Given the description of an element on the screen output the (x, y) to click on. 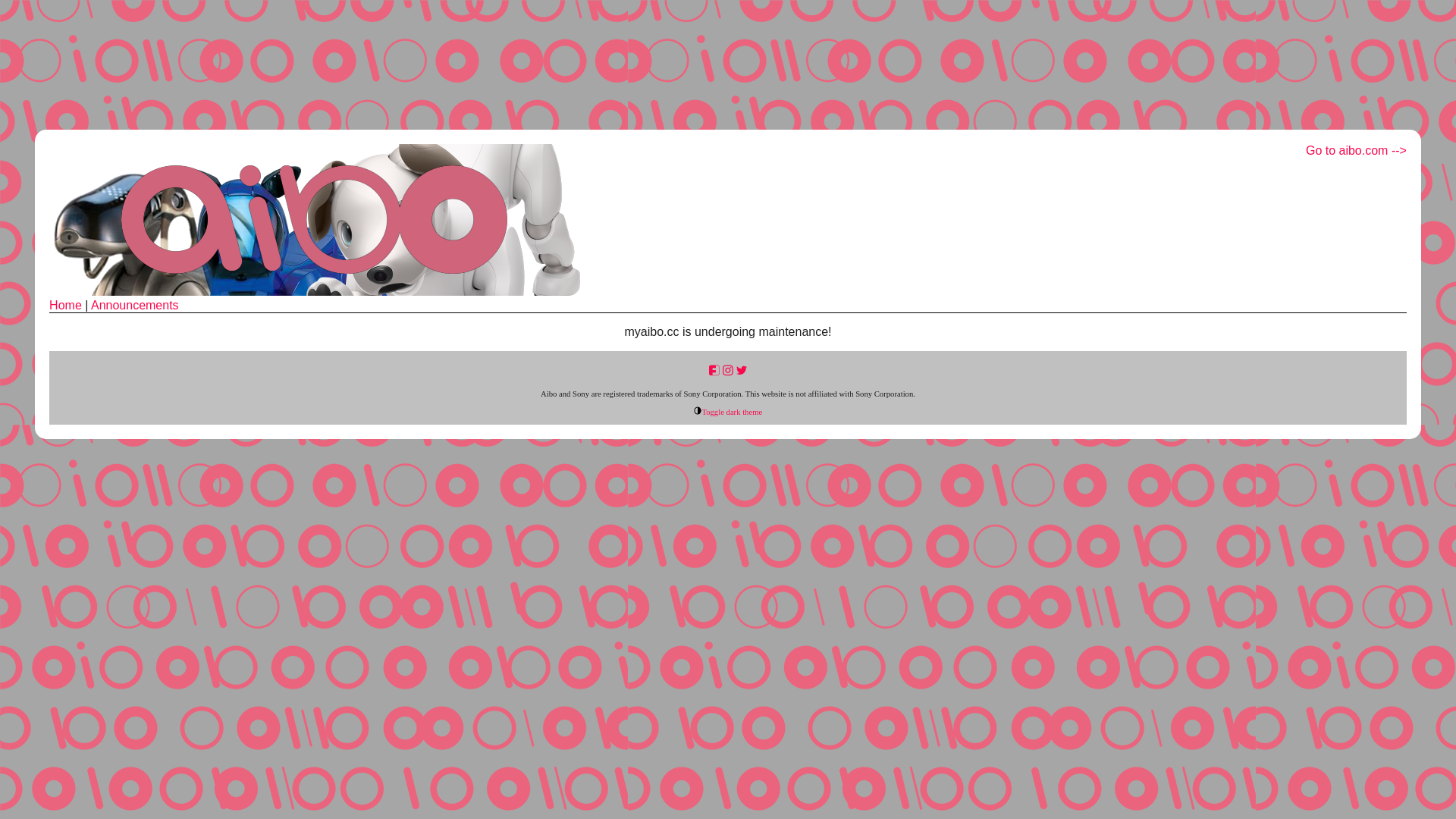
Announcements Element type: text (134, 304)
Go to aibo.com --> Element type: text (1355, 150)
Home Element type: text (65, 304)
Toggle dark theme Element type: text (727, 411)
